Given the description of an element on the screen output the (x, y) to click on. 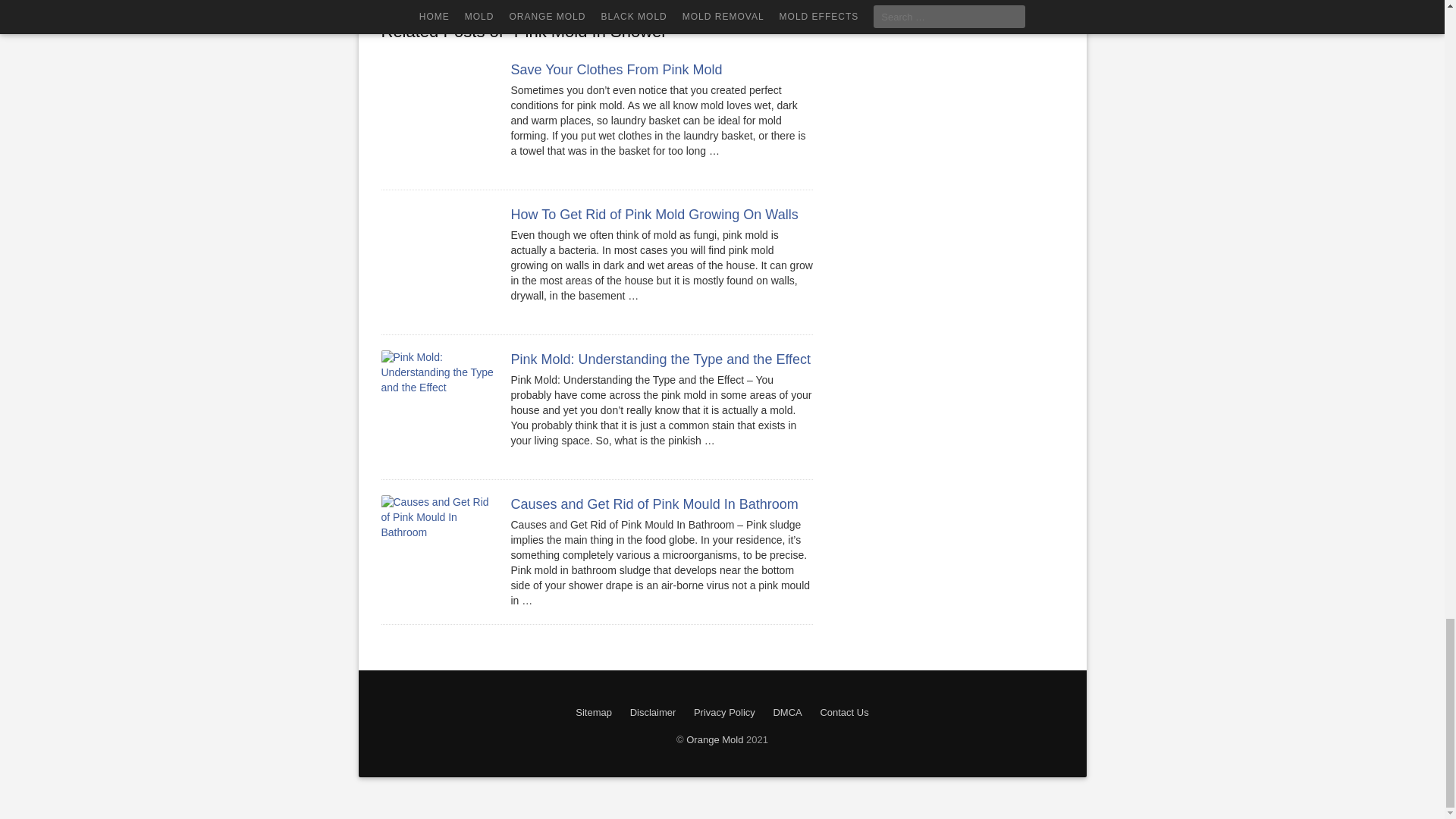
Sitemap (593, 712)
How To Get Rid of Pink Mold Growing On Walls (654, 214)
Contact Us (844, 712)
Disclaimer (653, 712)
Pink Mold: Understanding the Type and the Effect (660, 359)
Orange Mold (713, 739)
Causes and Get Rid of Pink Mould In Bathroom (654, 503)
Orange Mold (713, 739)
Privacy Policy (723, 712)
Save Your Clothes From Pink Mold (616, 69)
DMCA (787, 712)
